Given the description of an element on the screen output the (x, y) to click on. 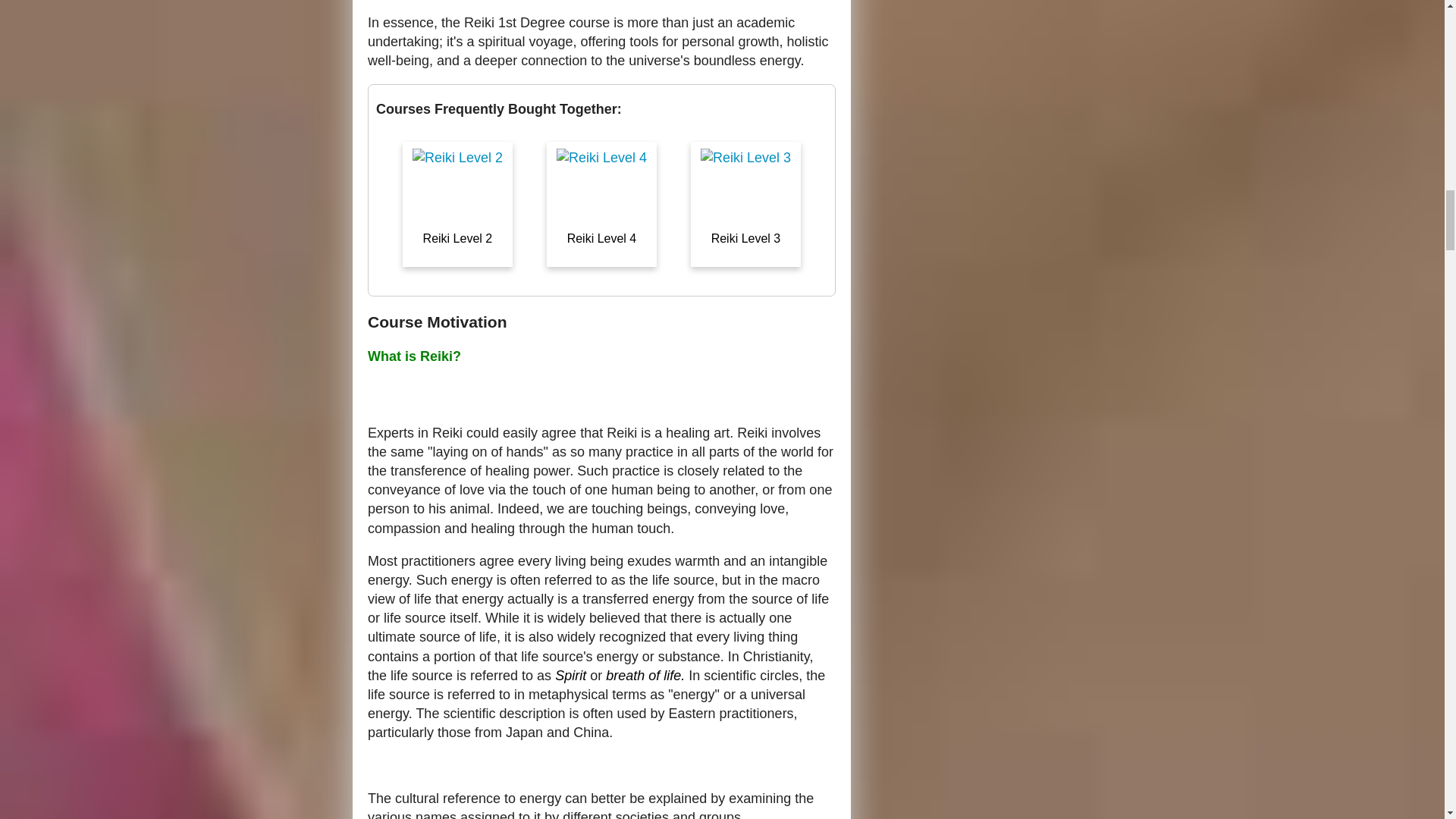
Reiki Level 4 (603, 277)
Reiki Level 3 (745, 277)
Reiki Level 2 (459, 277)
